Given the description of an element on the screen output the (x, y) to click on. 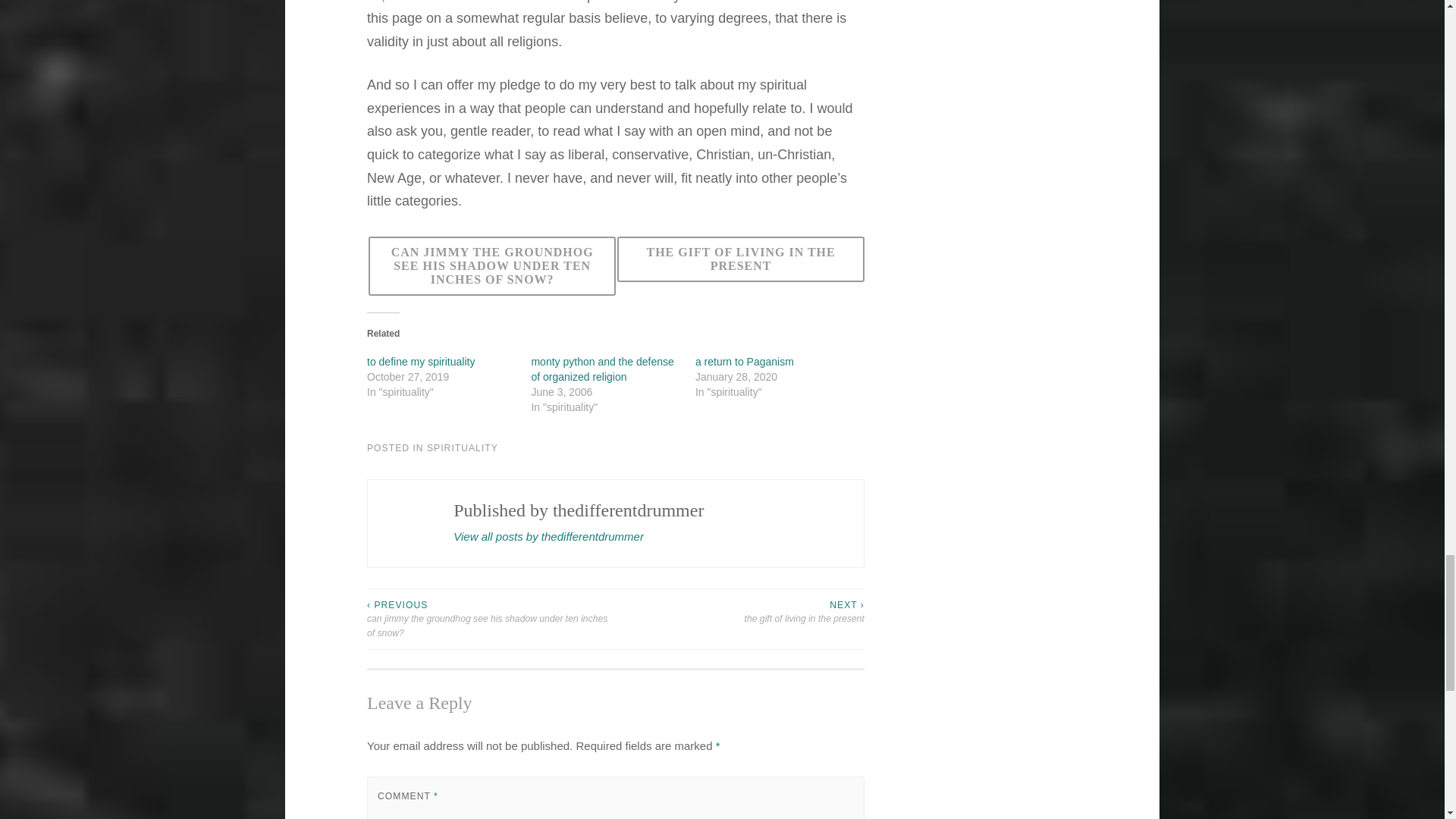
monty python and the defense of organized religion (601, 369)
SPIRITUALITY (461, 448)
to define my spirituality (420, 361)
THE GIFT OF LIVING IN THE PRESENT (740, 258)
to define my spirituality (420, 361)
a return to Paganism (744, 361)
the gift of living in the present (740, 265)
monty python and the defense of organized religion (601, 369)
THE GIFT OF LIVING IN THE PRESENT (740, 265)
View all posts by thedifferentdrummer (547, 536)
a return to Paganism (744, 361)
